Given the description of an element on the screen output the (x, y) to click on. 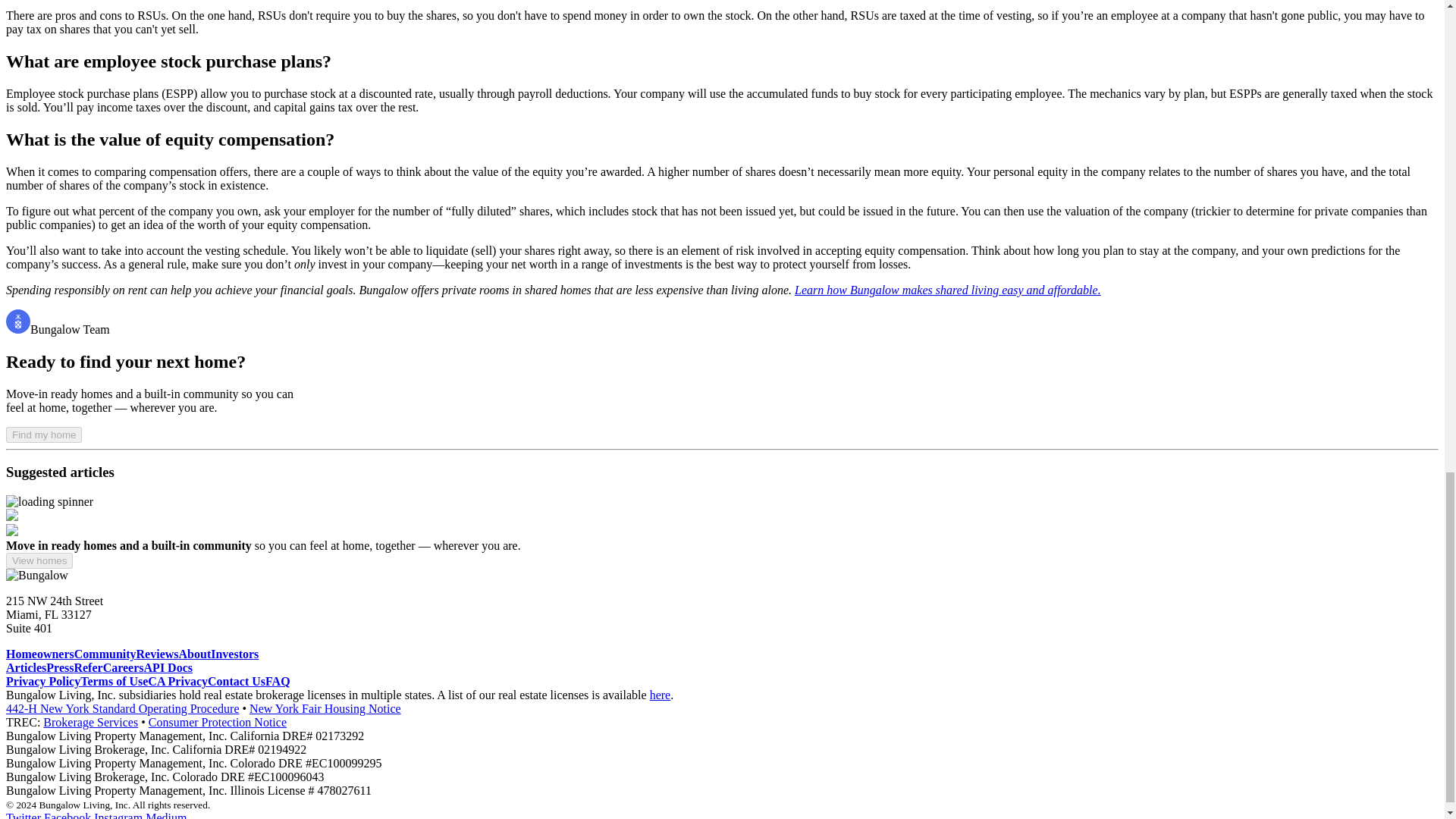
View homes (38, 560)
Reviews (157, 653)
Homeowners (39, 653)
Learn how Bungalow makes shared living easy and affordable. (947, 289)
Community (105, 653)
Find my home (43, 434)
About (195, 653)
